Given the description of an element on the screen output the (x, y) to click on. 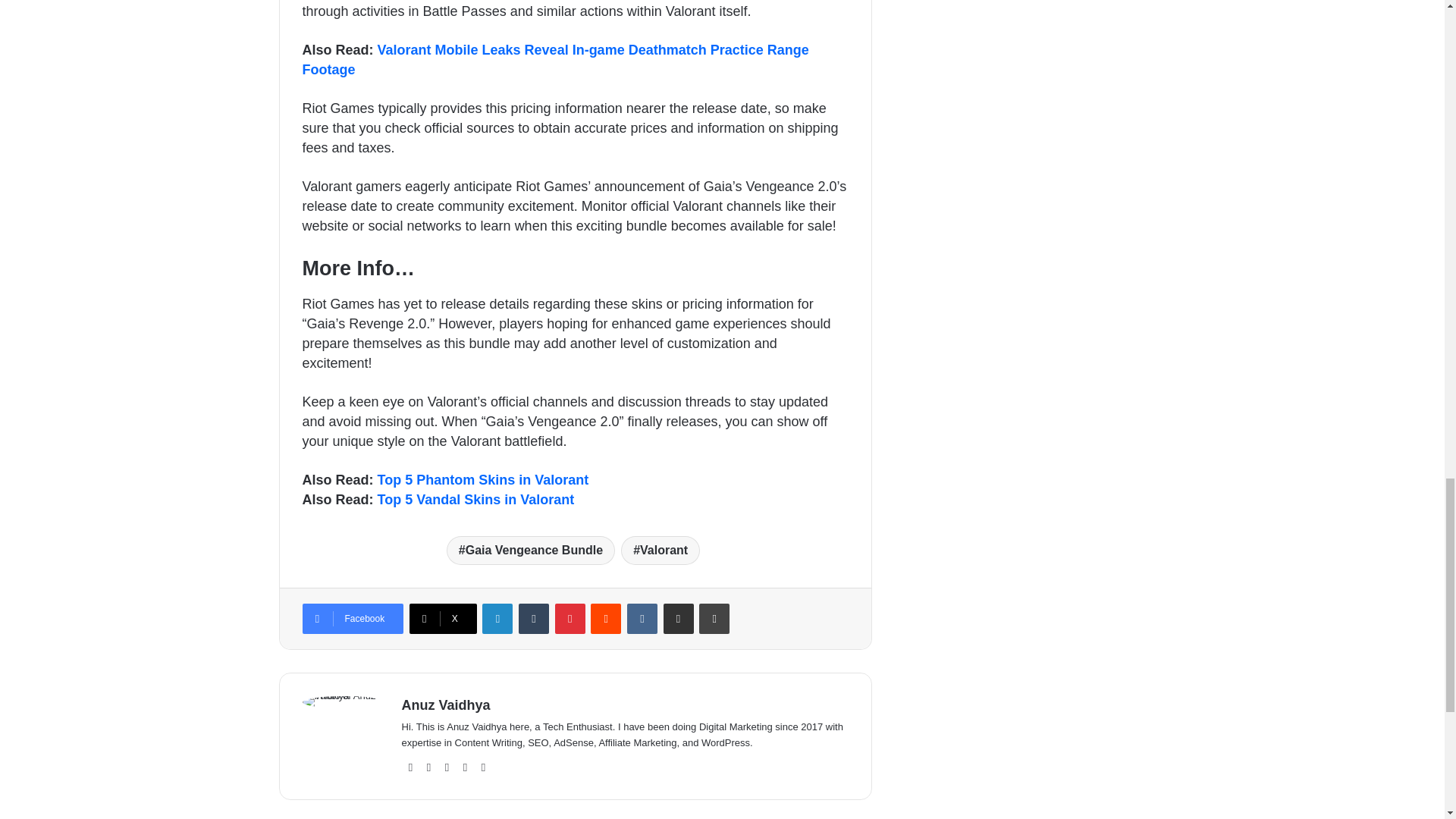
Gaia Vengeance Bundle (530, 550)
Top 5 Phantom Skins in Valorant (483, 479)
Top 5 Vandal Skins in Valorant (476, 499)
Valorant (660, 550)
